Given the description of an element on the screen output the (x, y) to click on. 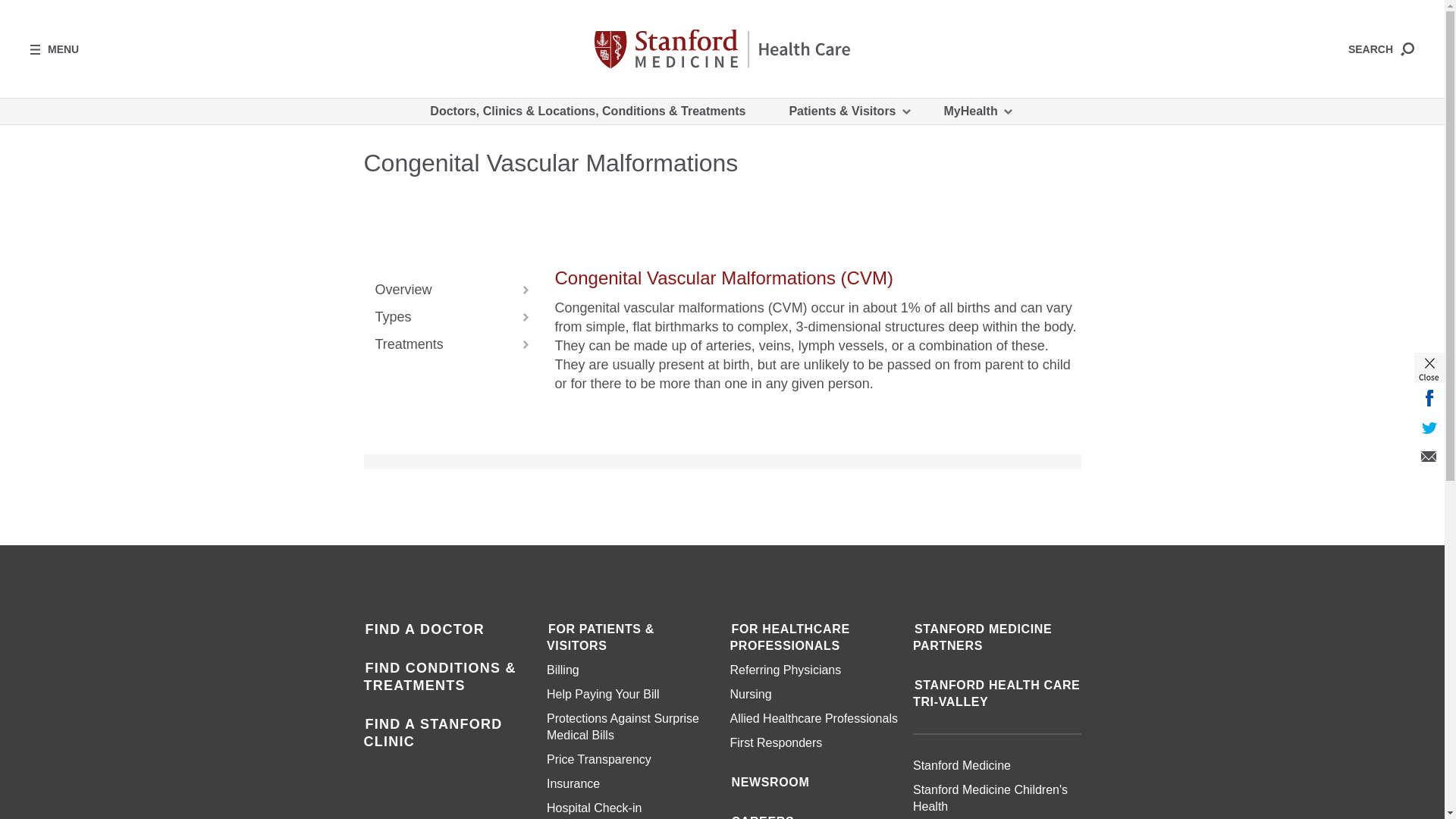
MENU (54, 49)
SEARCH (1380, 49)
MyHealth (976, 110)
